Given the description of an element on the screen output the (x, y) to click on. 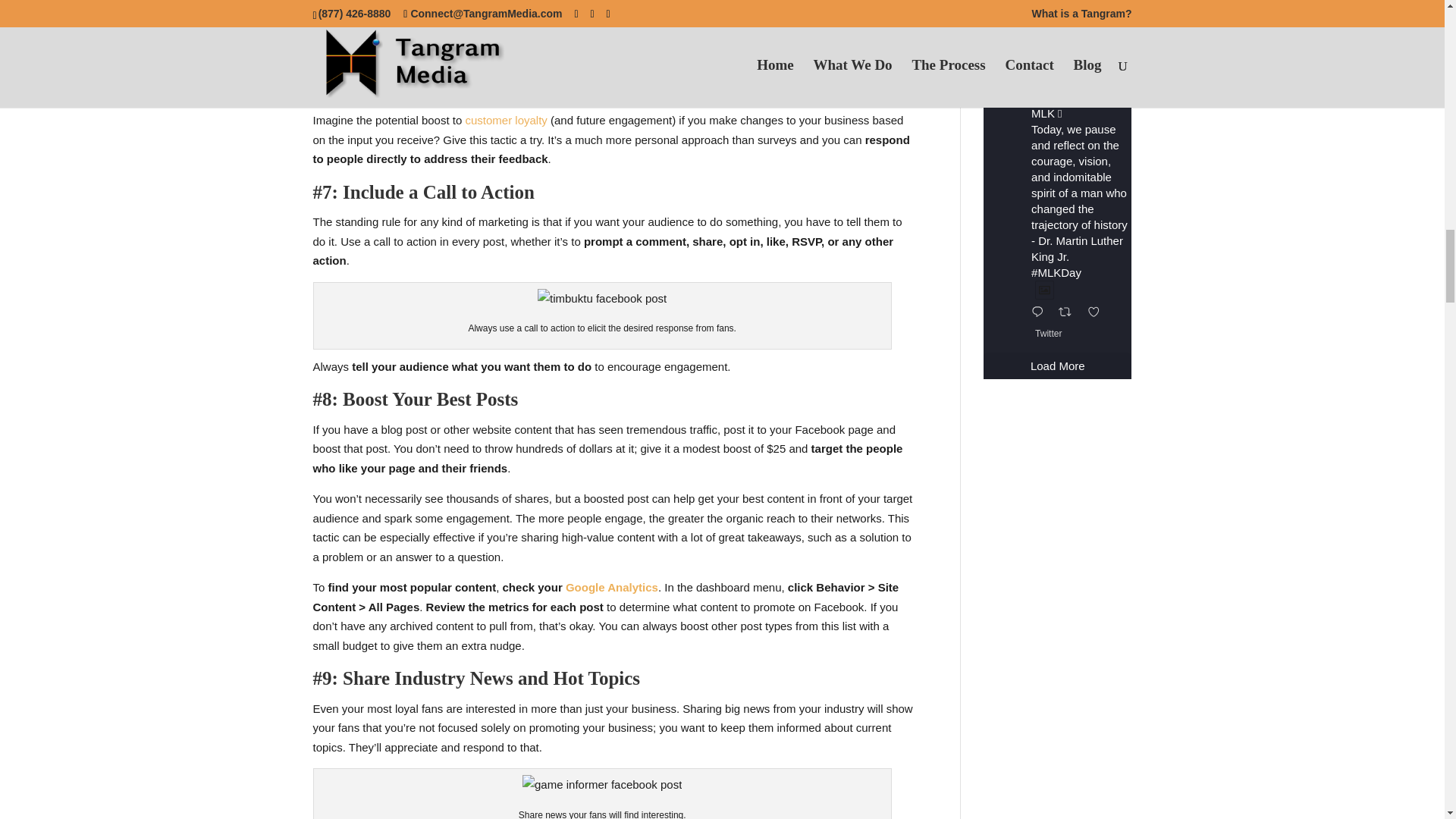
customer loyalty (505, 119)
Google Analytics (612, 586)
